Given the description of an element on the screen output the (x, y) to click on. 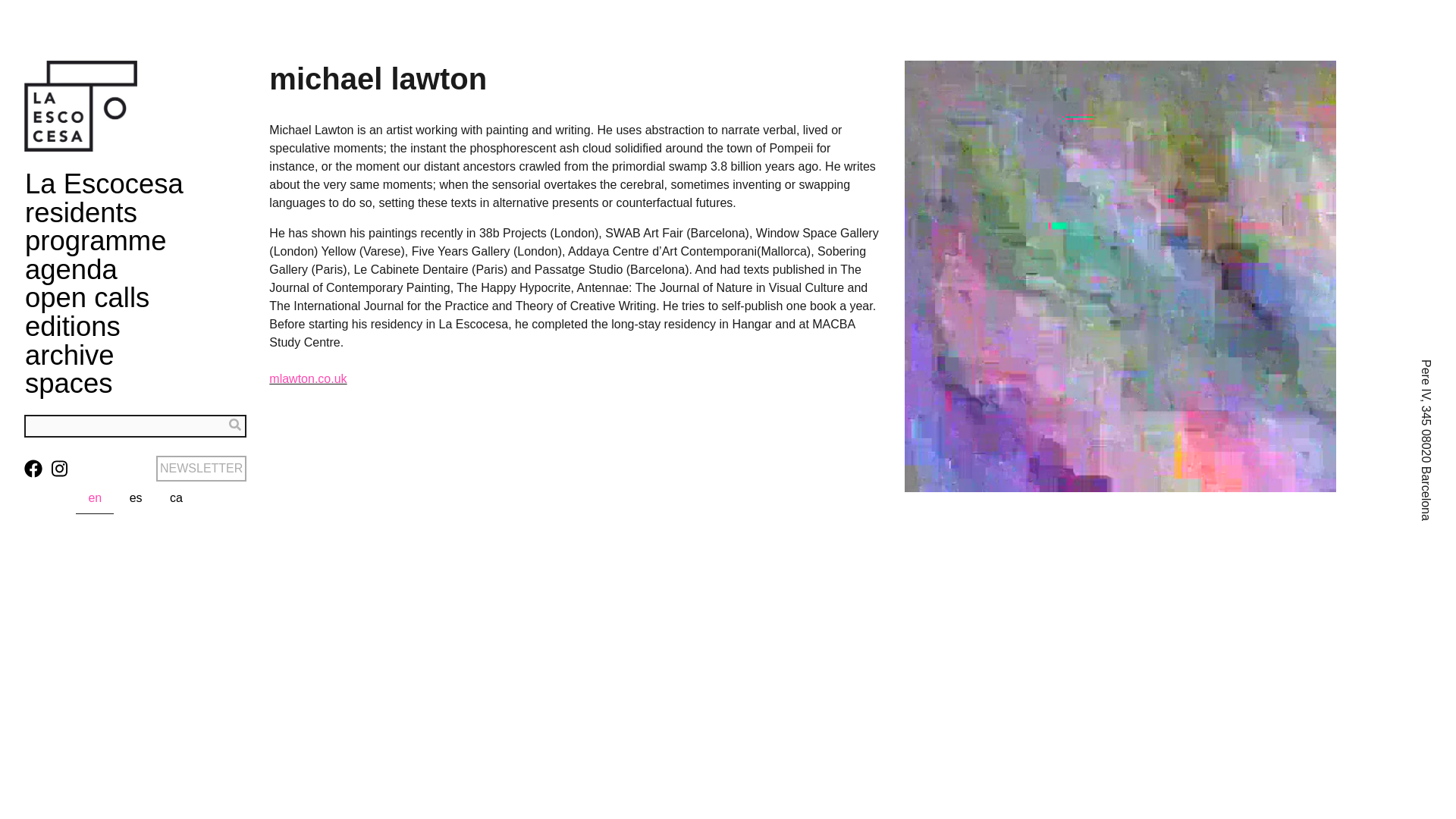
NEWSLETTER (200, 468)
English (94, 498)
Catalan (176, 498)
open calls (86, 297)
agenda (70, 270)
programme (94, 240)
La Escocesa (103, 184)
archive (69, 355)
residents (80, 212)
Spanish (135, 498)
editions (72, 326)
spaces (68, 383)
